Given the description of an element on the screen output the (x, y) to click on. 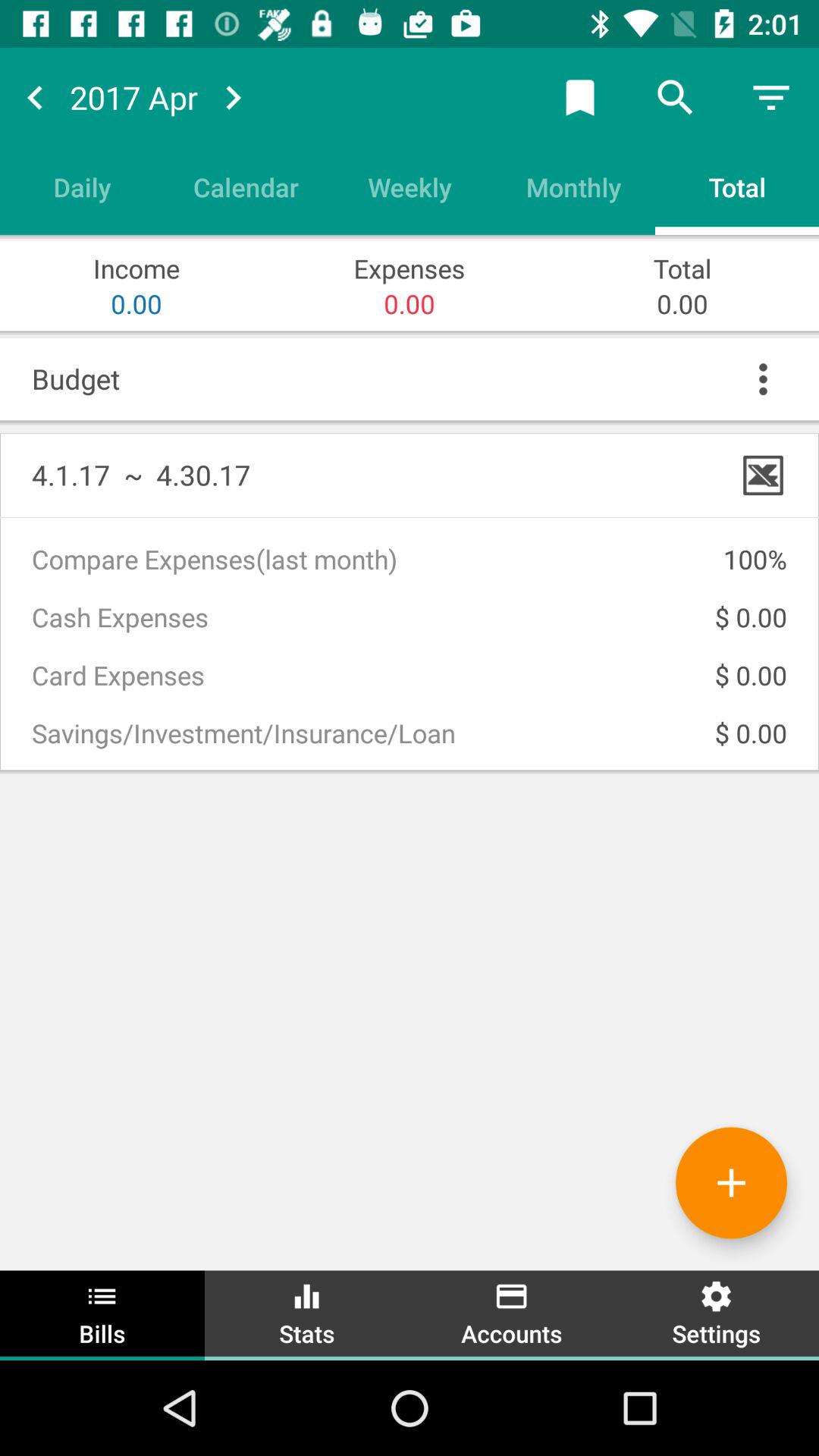
forward (232, 97)
